Given the description of an element on the screen output the (x, y) to click on. 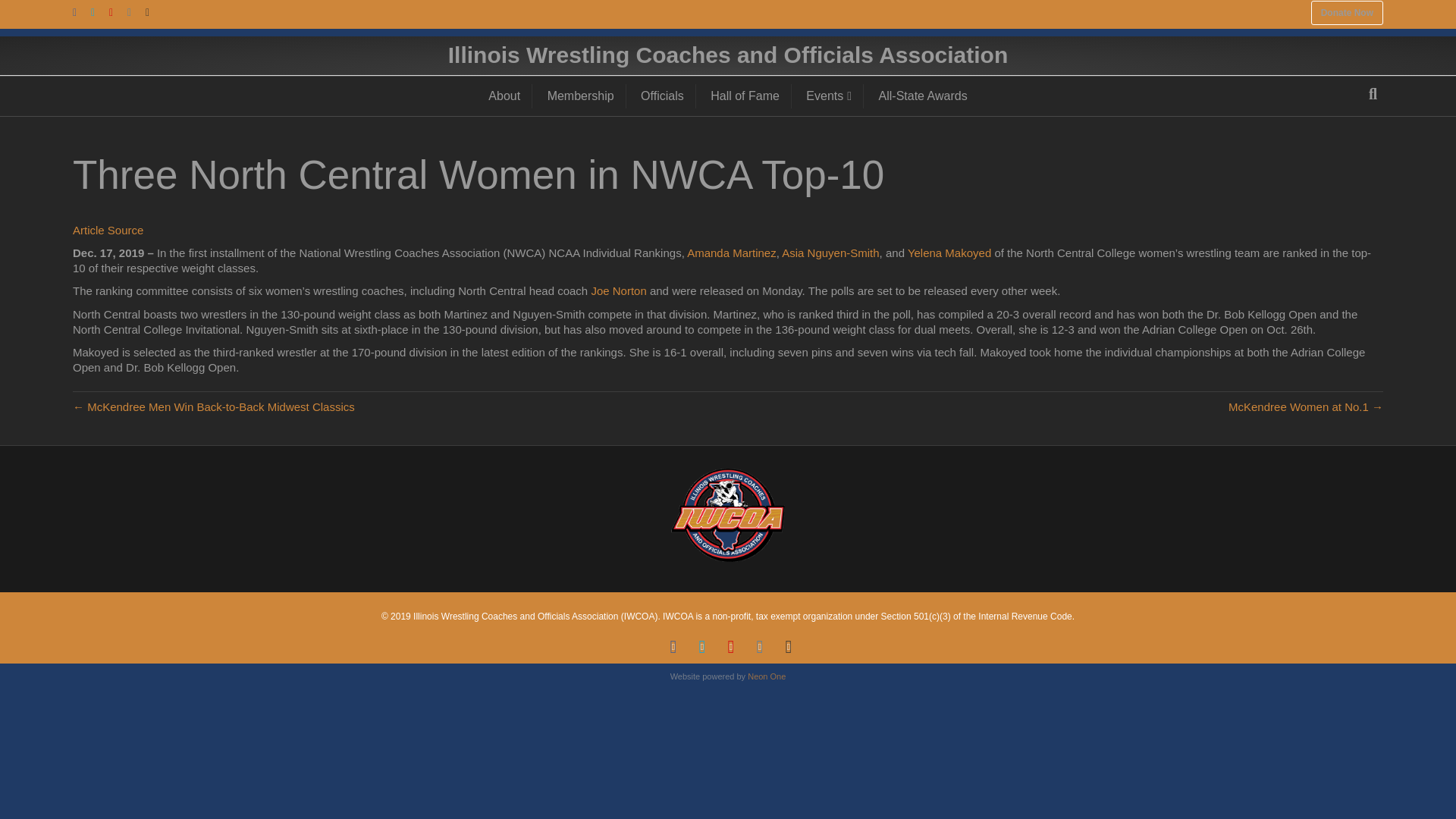
Events (828, 95)
Officials (661, 95)
Donate Now (1347, 12)
Youtube (118, 11)
Neon One (767, 675)
Yelena Makoyed (949, 252)
About (504, 95)
Facebook (81, 11)
Youtube (730, 647)
Instagram (759, 647)
